Given the description of an element on the screen output the (x, y) to click on. 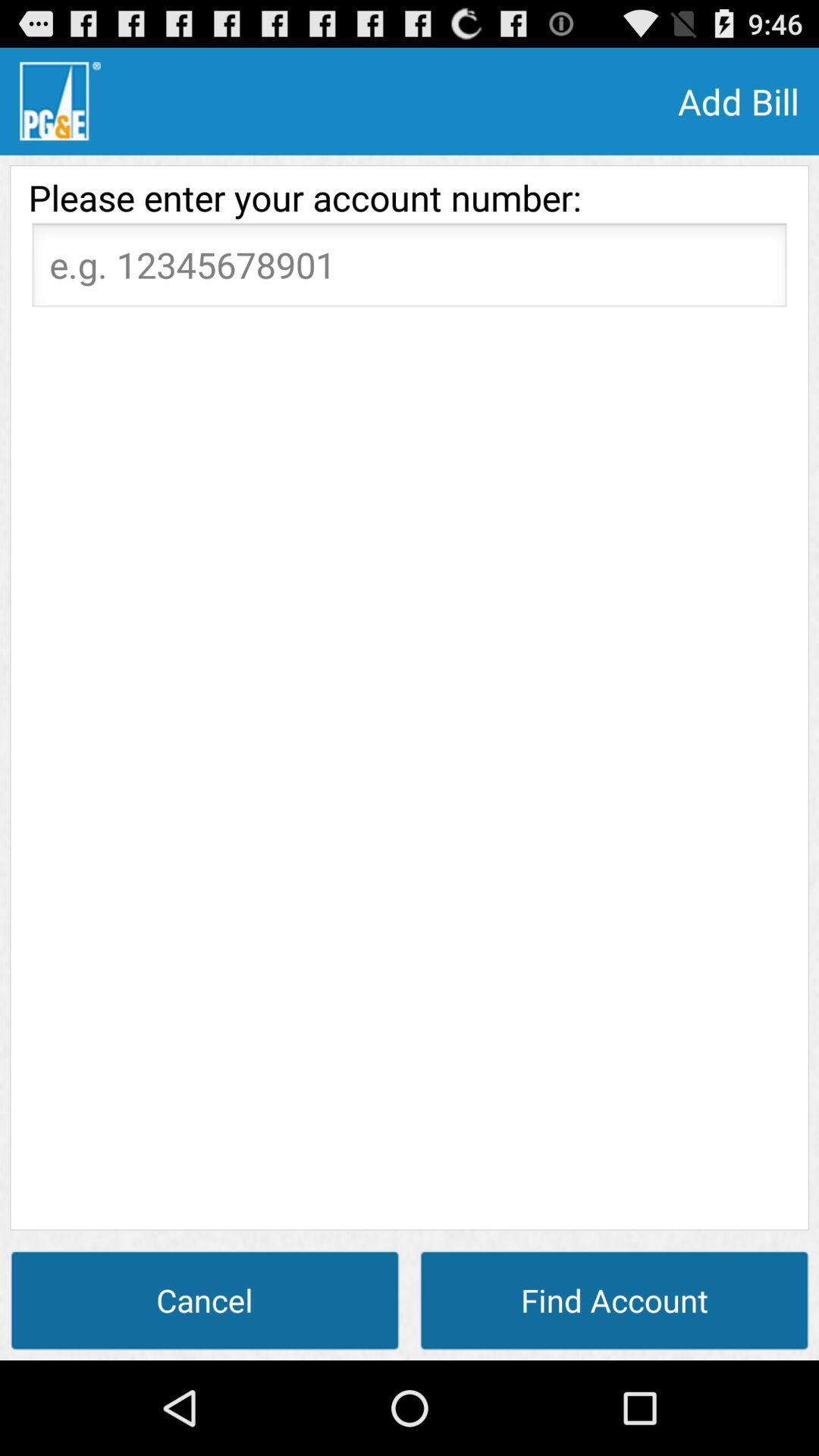
turn on the item to the left of find account (204, 1300)
